Given the description of an element on the screen output the (x, y) to click on. 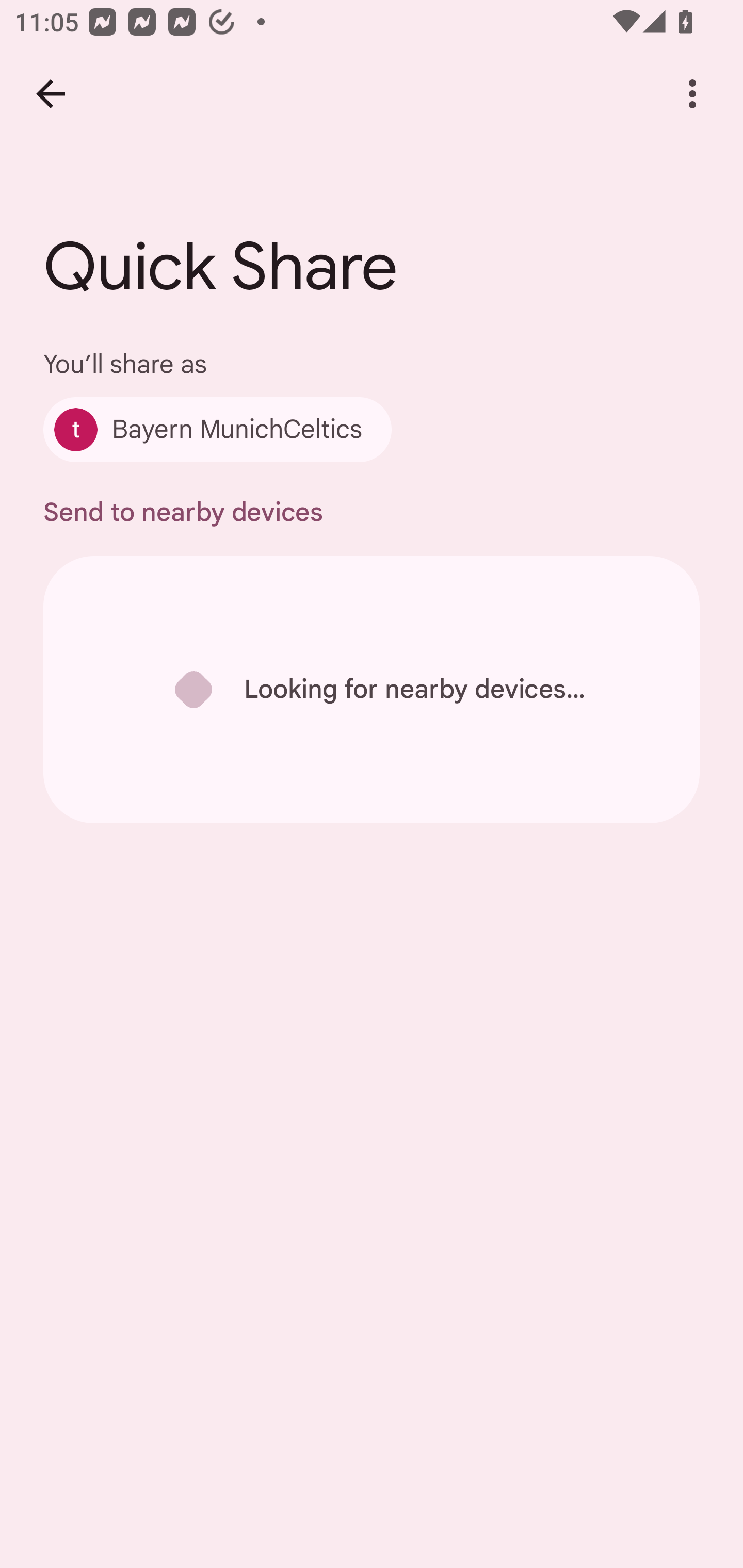
Back (50, 93)
More (692, 93)
Bayern MunichCeltics (217, 429)
